Given the description of an element on the screen output the (x, y) to click on. 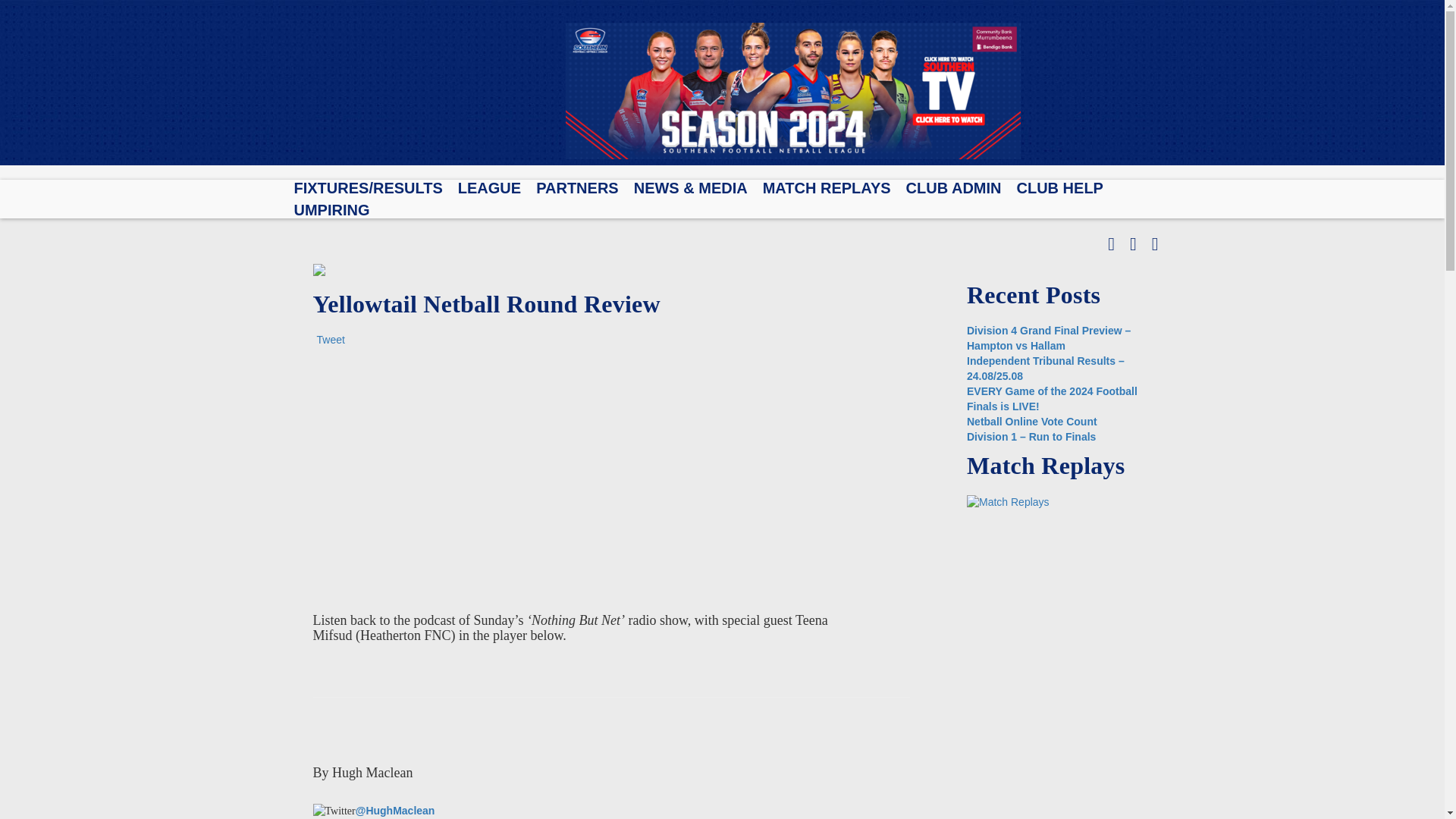
PARTNERS (576, 187)
audioBoom player (578, 476)
LEAGUE (489, 187)
MATCH REPLAYS (826, 187)
Match Replays (1007, 500)
